Given the description of an element on the screen output the (x, y) to click on. 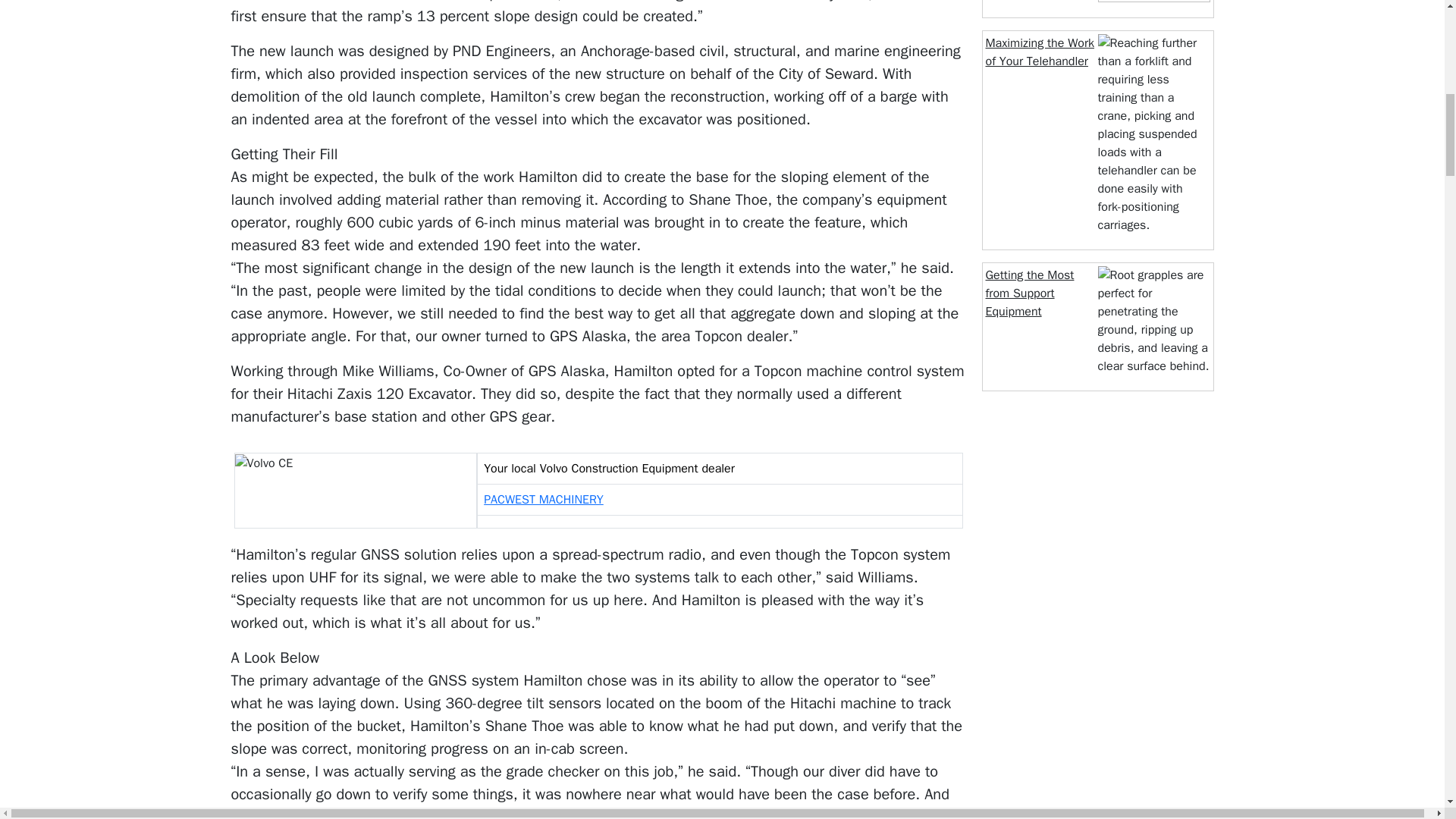
Getting the Most from Support Equipment (1029, 293)
Maximizing the Work of Your Telehandler (1039, 52)
PACWEST MACHINERY (543, 499)
